Given the description of an element on the screen output the (x, y) to click on. 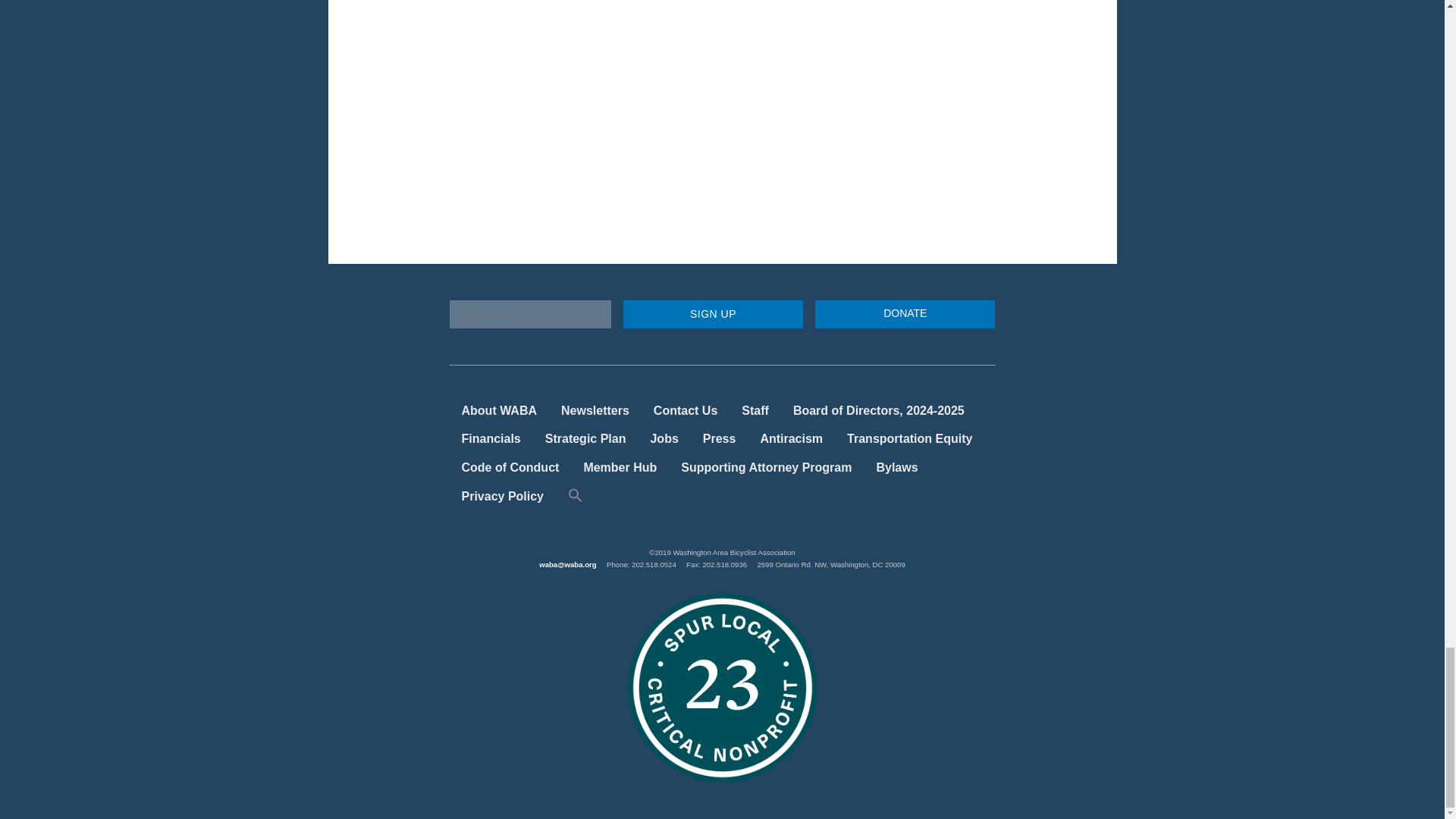
Sign Up (713, 314)
Email (529, 314)
